Given the description of an element on the screen output the (x, y) to click on. 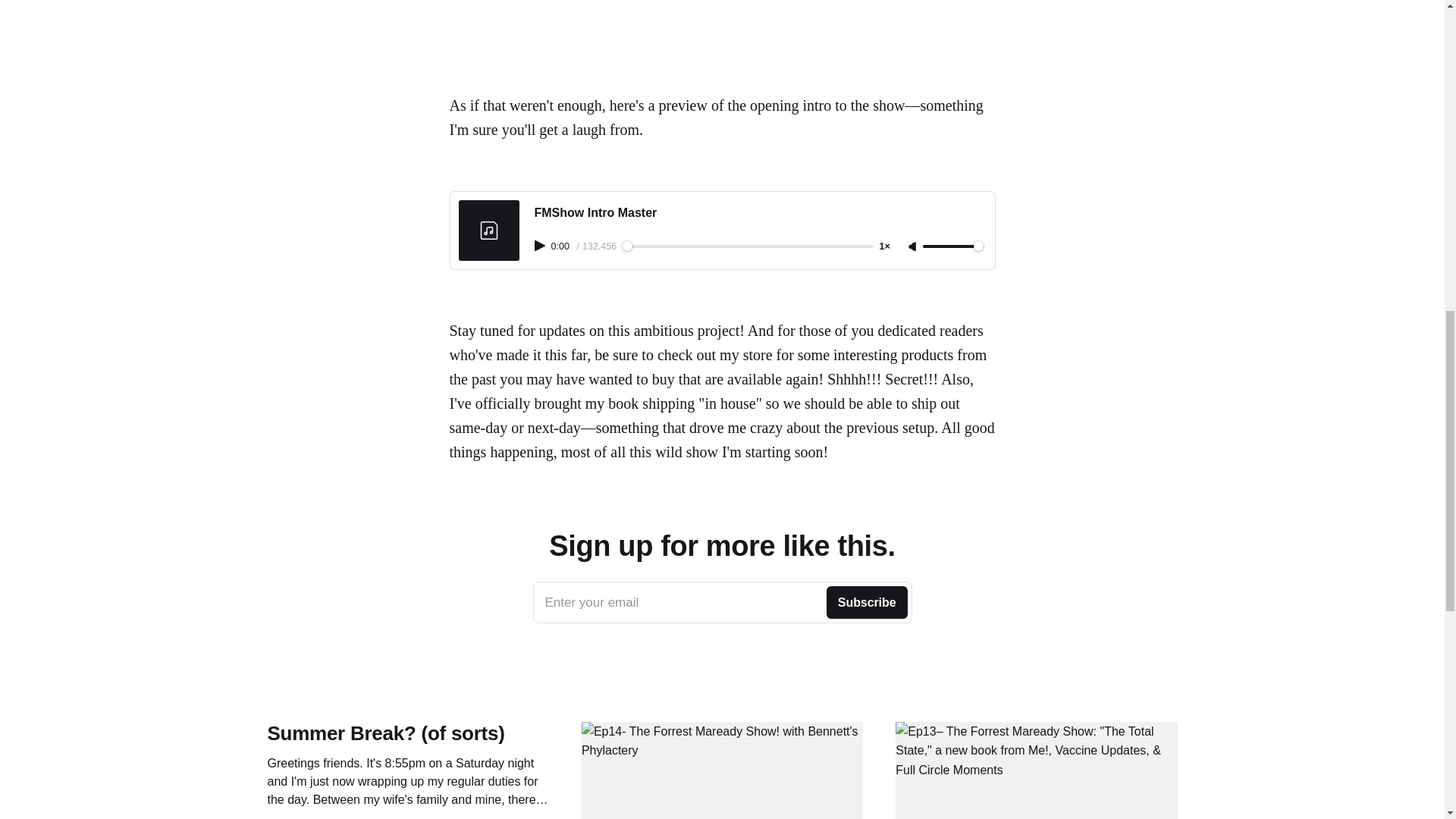
0 (721, 602)
100 (746, 246)
